Given the description of an element on the screen output the (x, y) to click on. 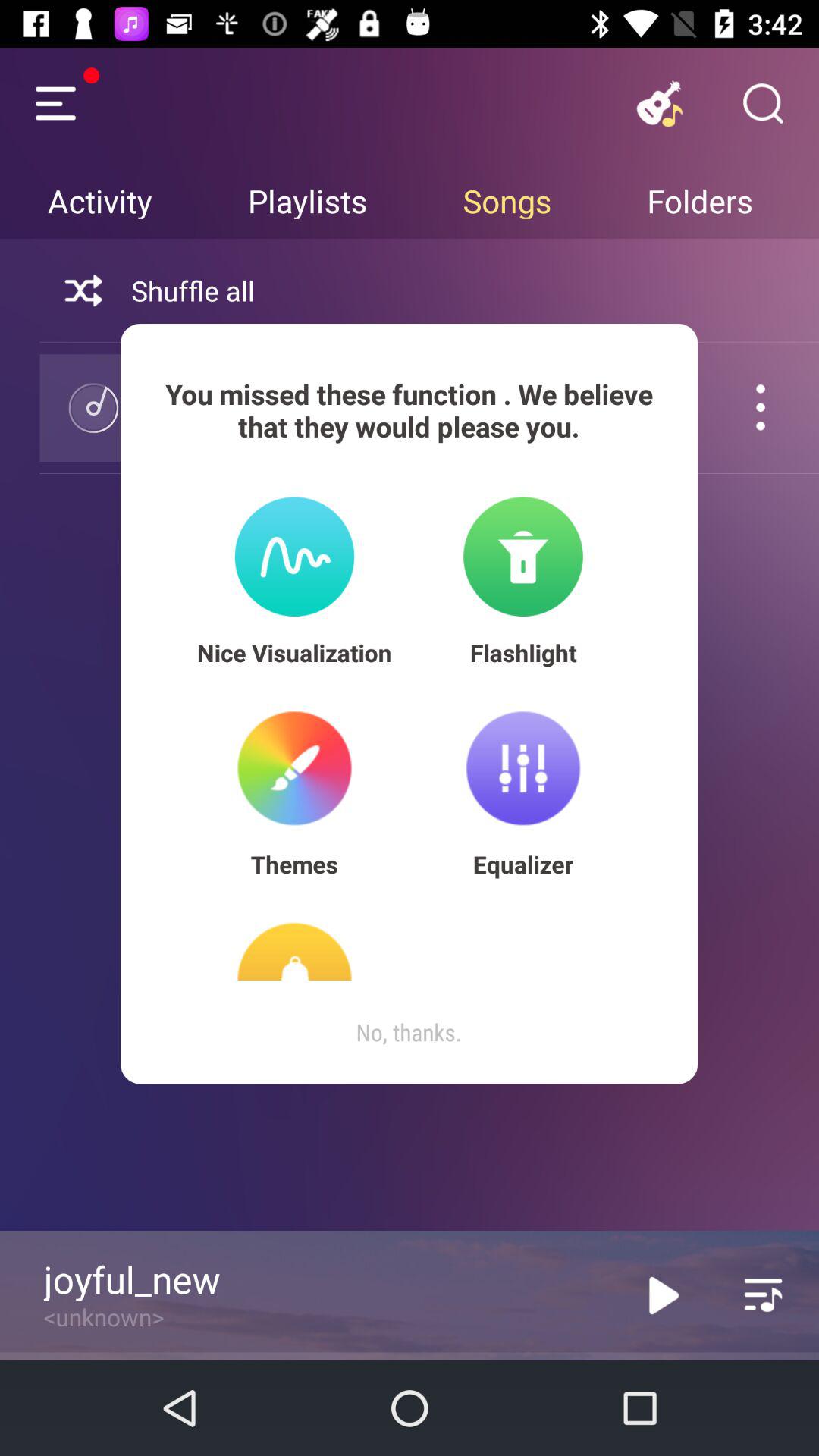
scroll to the nice visualization item (294, 652)
